Given the description of an element on the screen output the (x, y) to click on. 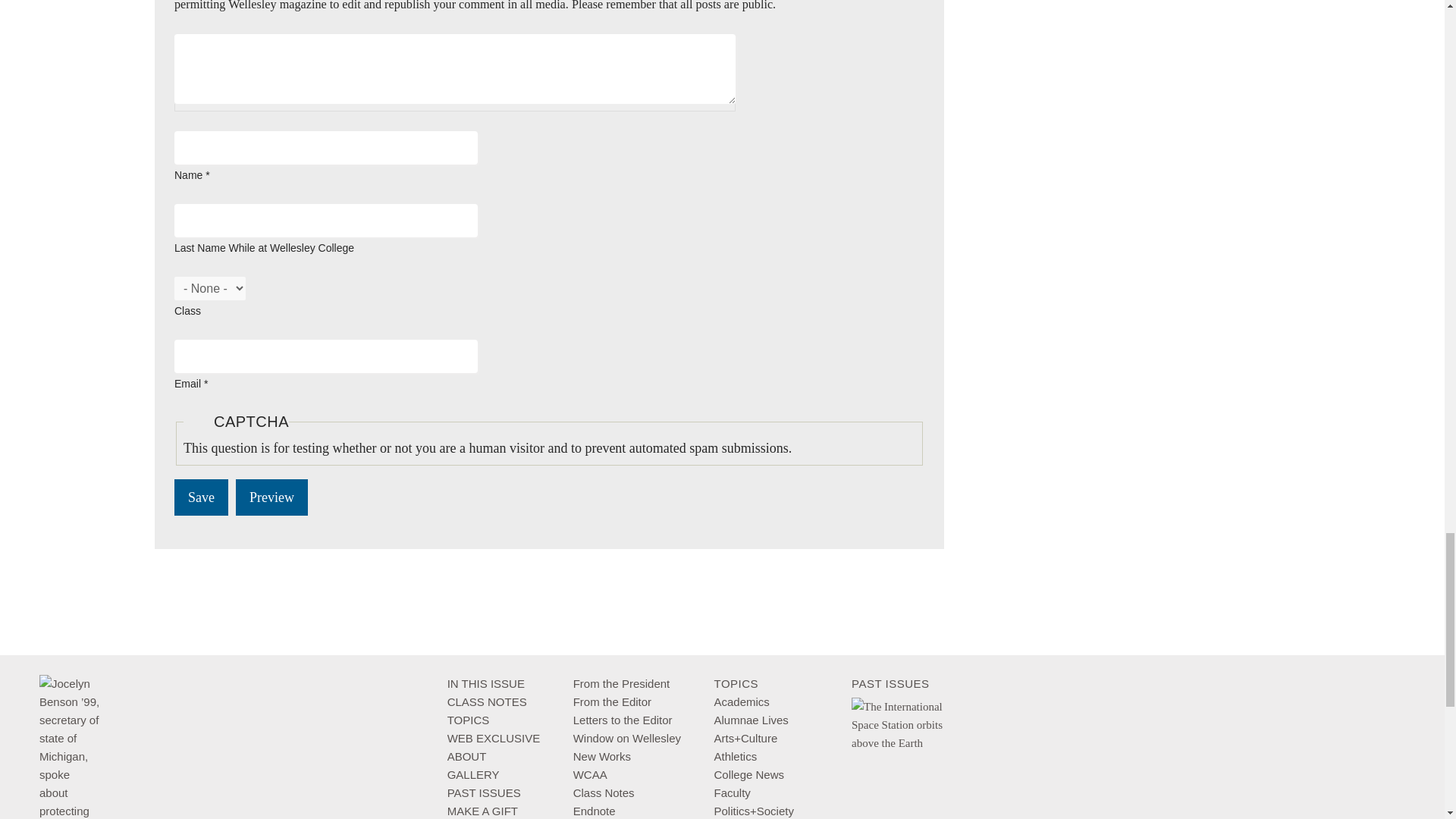
Save (201, 497)
Preview (271, 497)
